Given the description of an element on the screen output the (x, y) to click on. 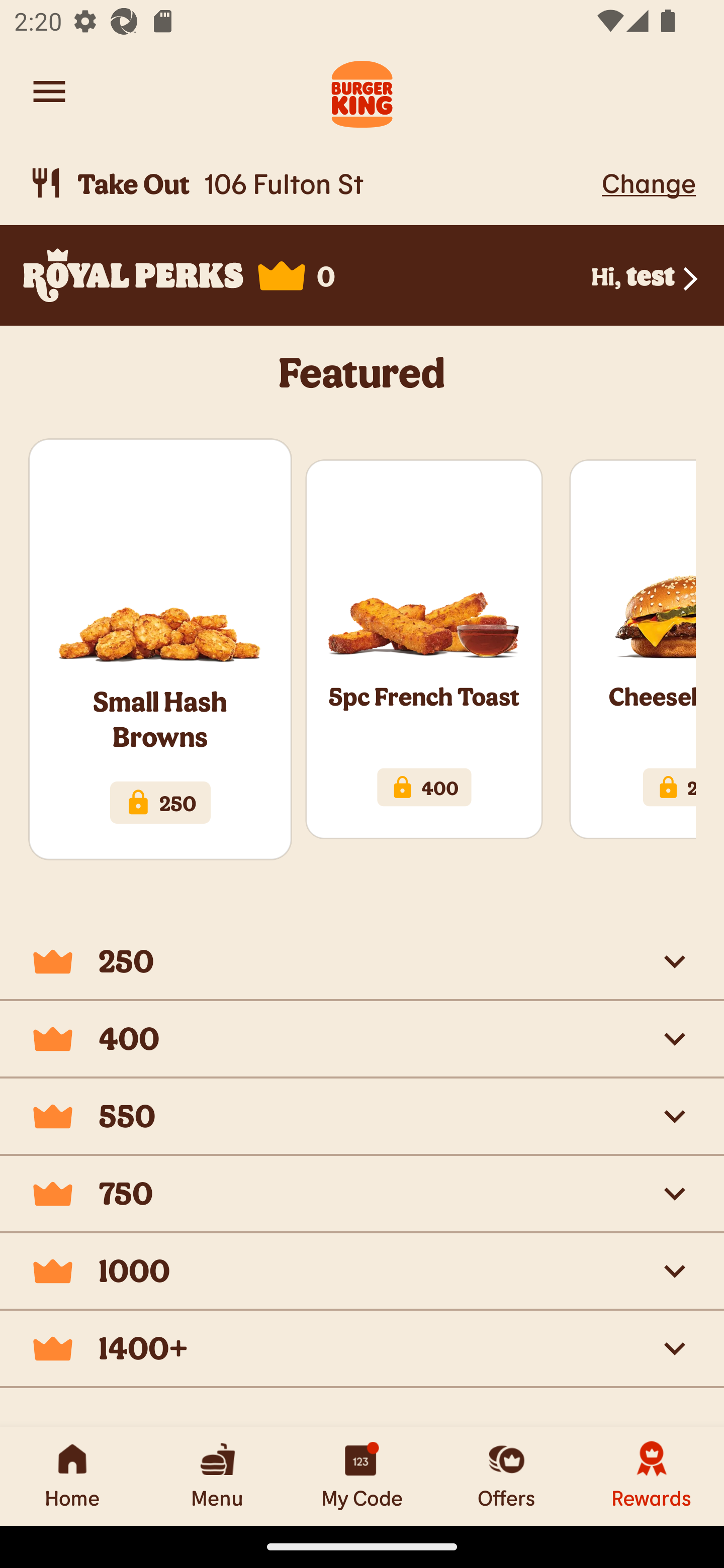
Burger King Logo. Navigate to Home (362, 91)
Navigate to account menu  (49, 91)
Take Out, 106 Fulton St  Take Out 106 Fulton St (311, 183)
Change (648, 182)
Home (72, 1475)
Menu (216, 1475)
My Code (361, 1475)
Offers (506, 1475)
Rewards (651, 1475)
